Given the description of an element on the screen output the (x, y) to click on. 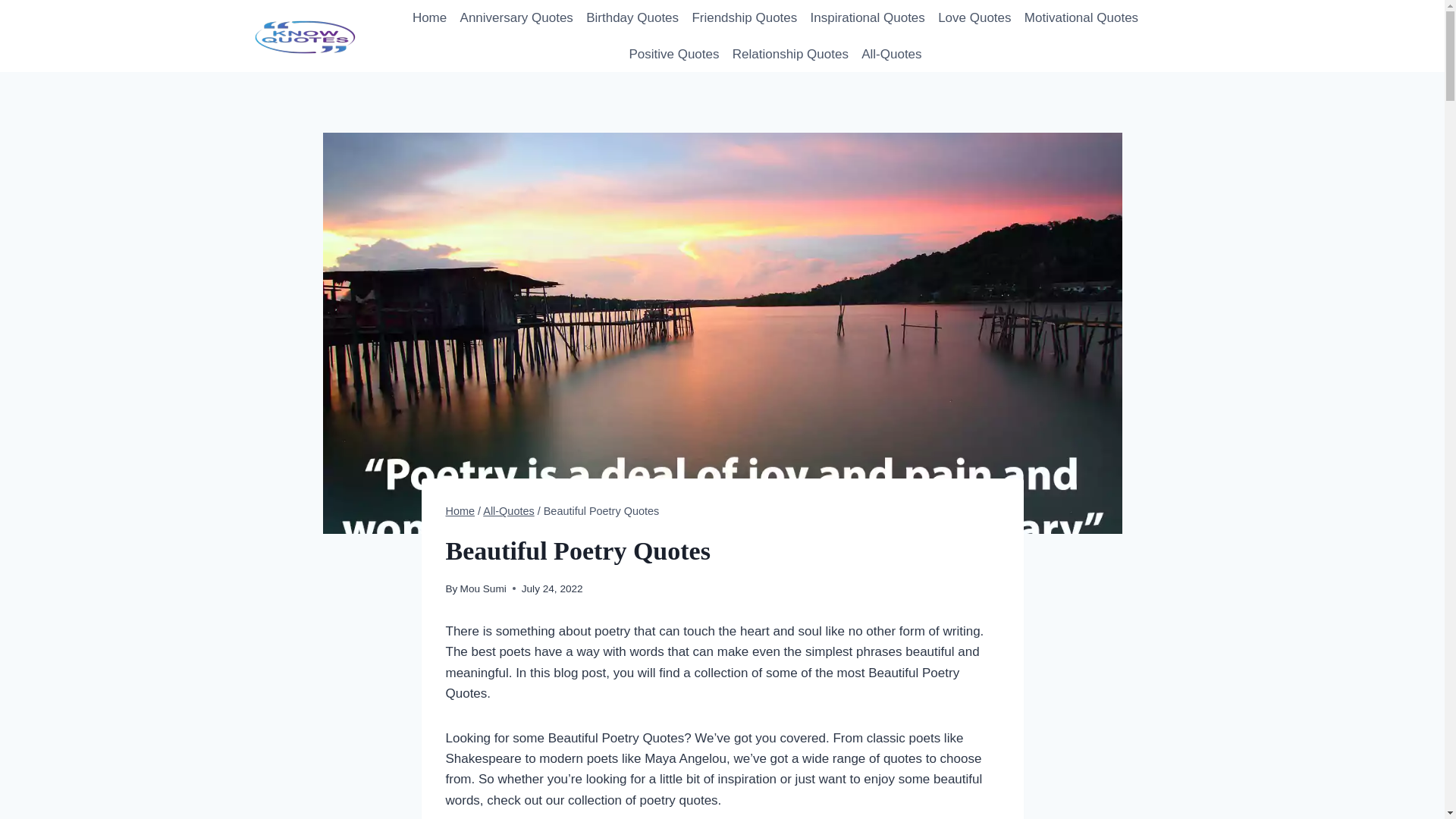
Home (460, 510)
Friendship Quotes (744, 18)
Mou Sumi (483, 588)
All-Quotes (892, 54)
Anniversary Quotes (515, 18)
Home (429, 18)
Love Quotes (974, 18)
Birthday Quotes (632, 18)
All-Quotes (508, 510)
